Given the description of an element on the screen output the (x, y) to click on. 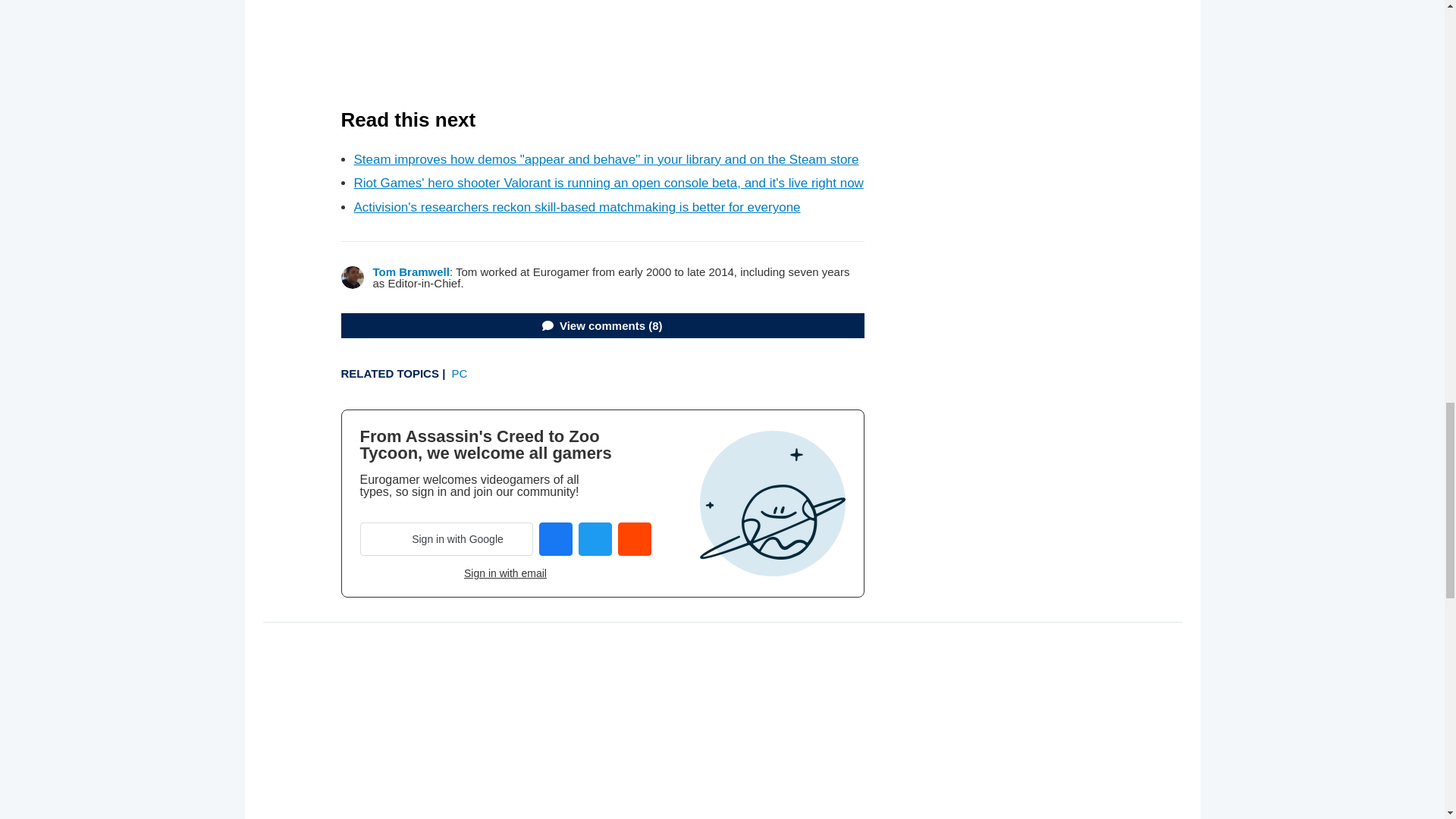
Tom Bramwell (410, 271)
Sign in with email (504, 573)
Sign in with Google (445, 539)
PC (459, 373)
Sign in with Google (445, 539)
